Given the description of an element on the screen output the (x, y) to click on. 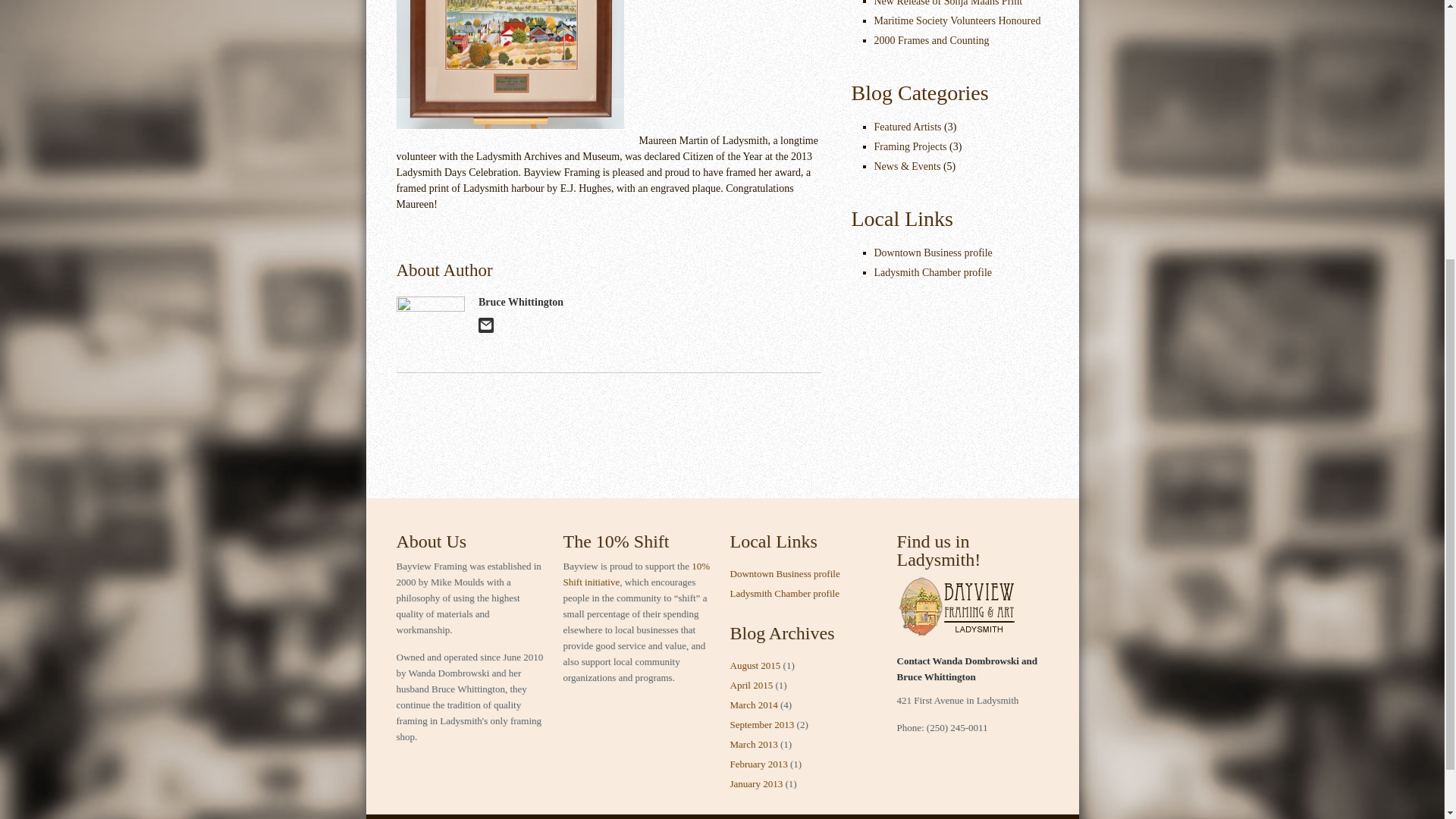
Downtown Business profile (784, 573)
Ladysmith Chamber profile (932, 272)
March 2014 (753, 704)
Ladysmith Chamber of Commerce (932, 272)
Ladysmith Downtown Business Association (784, 573)
Ladysmith Downtown Business Association (932, 252)
April 2015 (751, 685)
February 2013 (758, 763)
New Release of Sonja Maans Print (947, 3)
Ladysmith Chamber of Commerce (783, 593)
Framing Projects (909, 146)
Ladysmith Chamber profile (783, 593)
January 2013 (756, 783)
Maritime Society Volunteers Honoured (957, 20)
2000 Frames and Counting (930, 40)
